Given the description of an element on the screen output the (x, y) to click on. 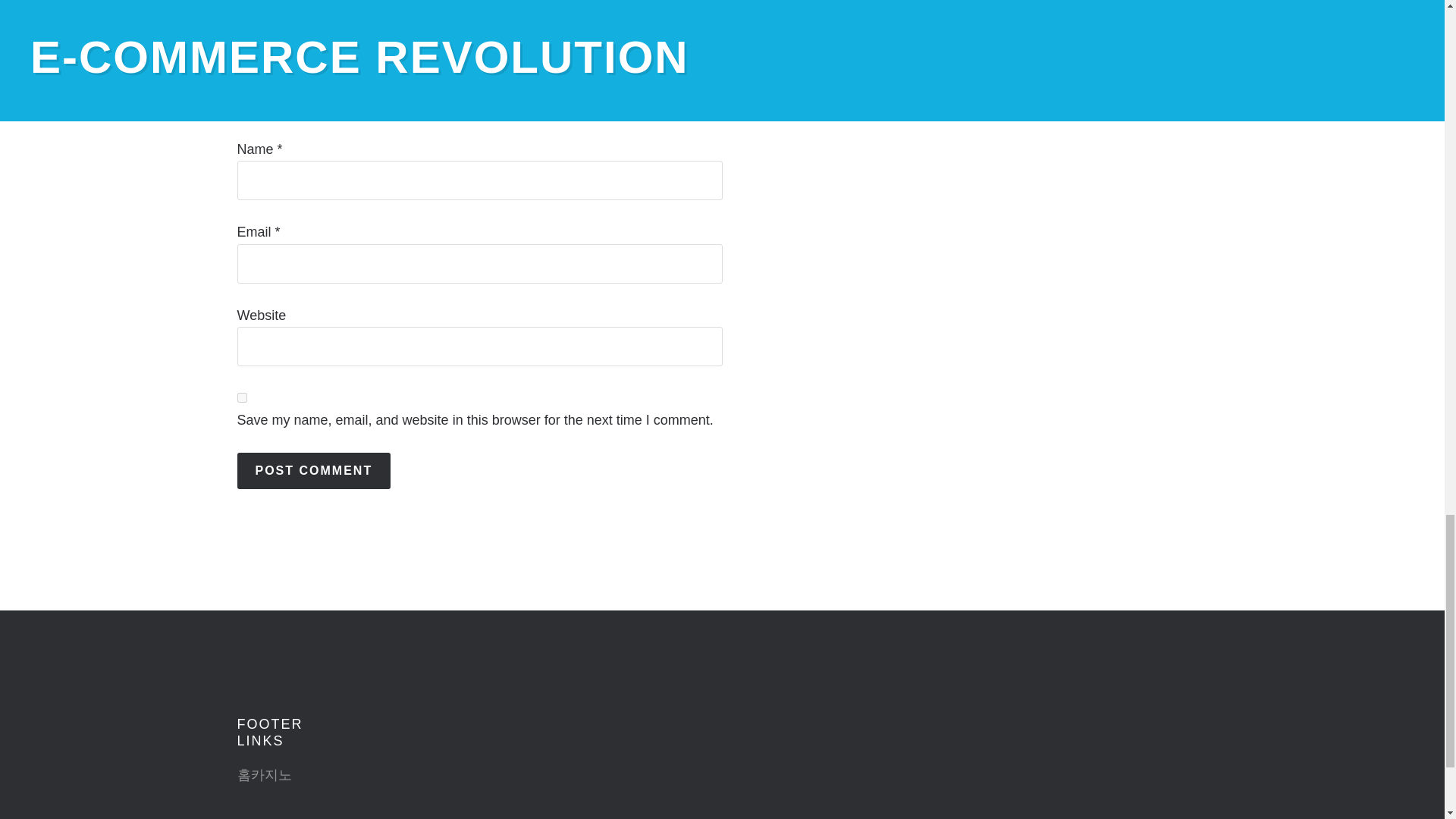
Post Comment (312, 470)
yes (240, 397)
Post Comment (312, 470)
